Given the description of an element on the screen output the (x, y) to click on. 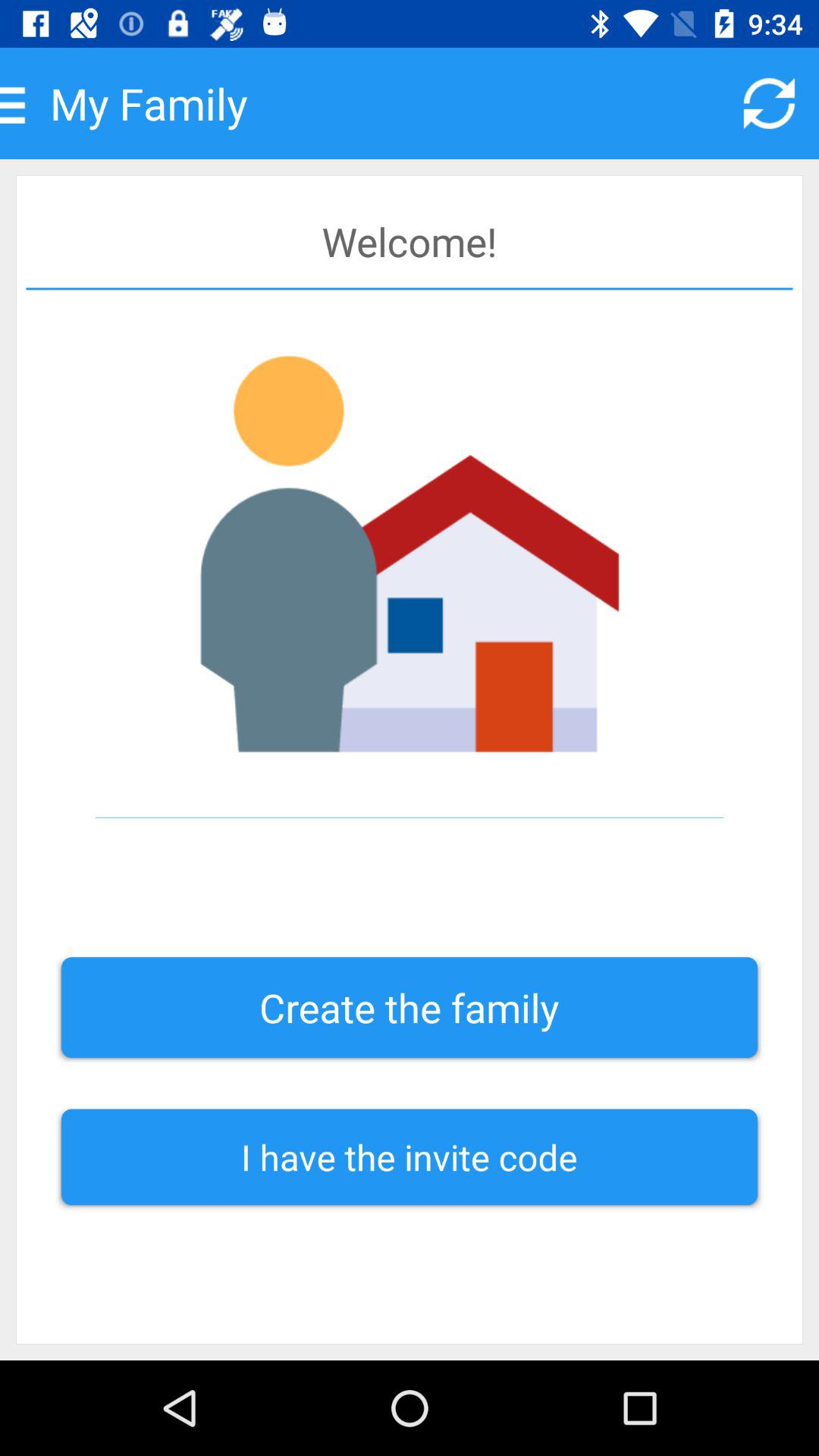
select item next to my family icon (769, 103)
